Given the description of an element on the screen output the (x, y) to click on. 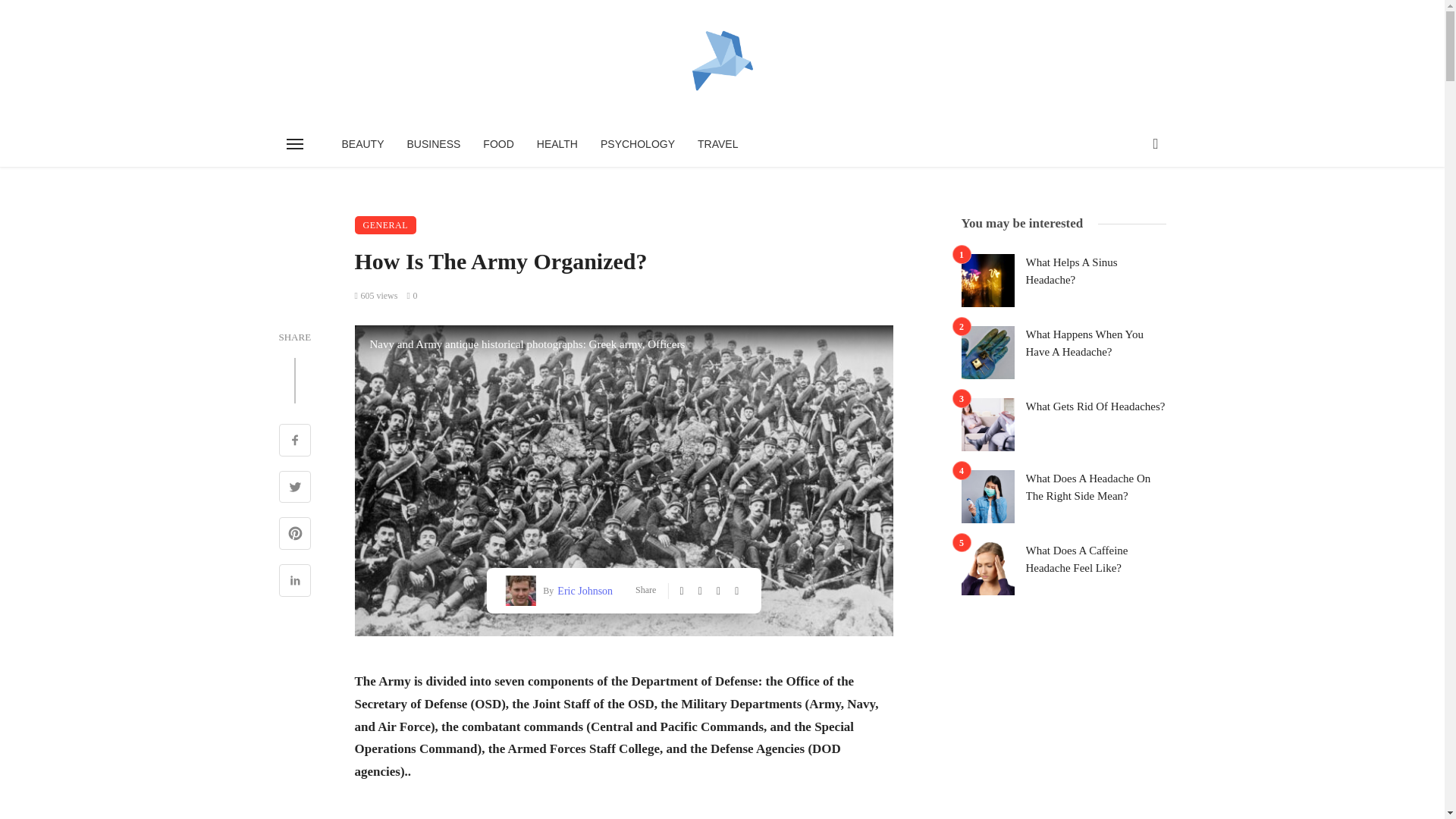
HEALTH (557, 144)
Share on Twitter (295, 488)
Posts by Eric Johnson (582, 590)
BEAUTY (363, 144)
Share on Facebook (295, 442)
BUSINESS (433, 144)
Eric Johnson (582, 590)
FOOD (497, 144)
Advertisement (624, 812)
Share on Linkedin (295, 582)
